Given the description of an element on the screen output the (x, y) to click on. 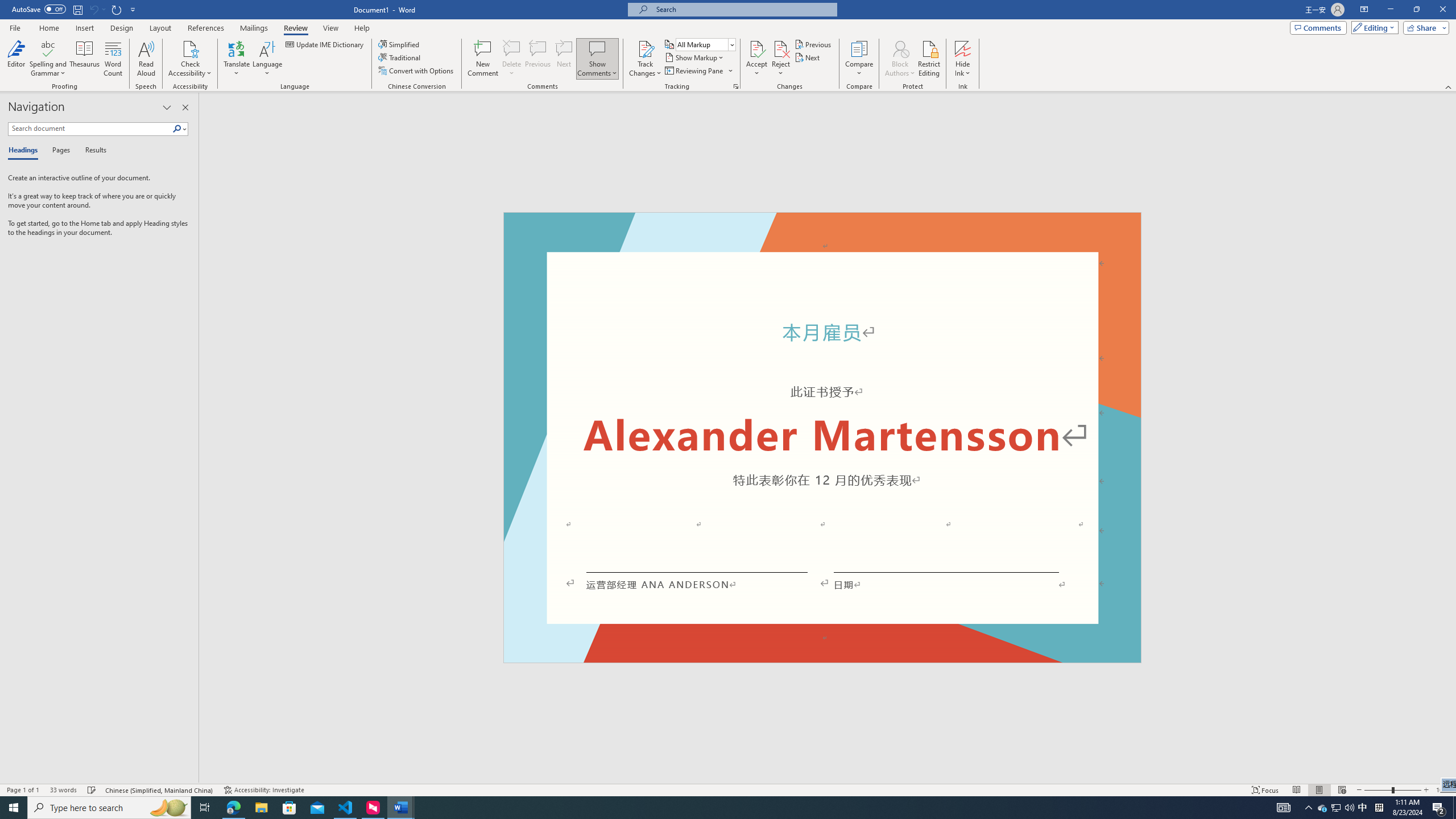
Show Comments (597, 58)
Read Aloud (145, 58)
Hide Ink (962, 58)
Change Tracking Options... (735, 85)
Translate (236, 58)
Headings (25, 150)
Simplified (400, 44)
Microsoft search (742, 9)
Restrict Editing (929, 58)
Track Changes (644, 58)
Accept and Move to Next (756, 48)
